Given the description of an element on the screen output the (x, y) to click on. 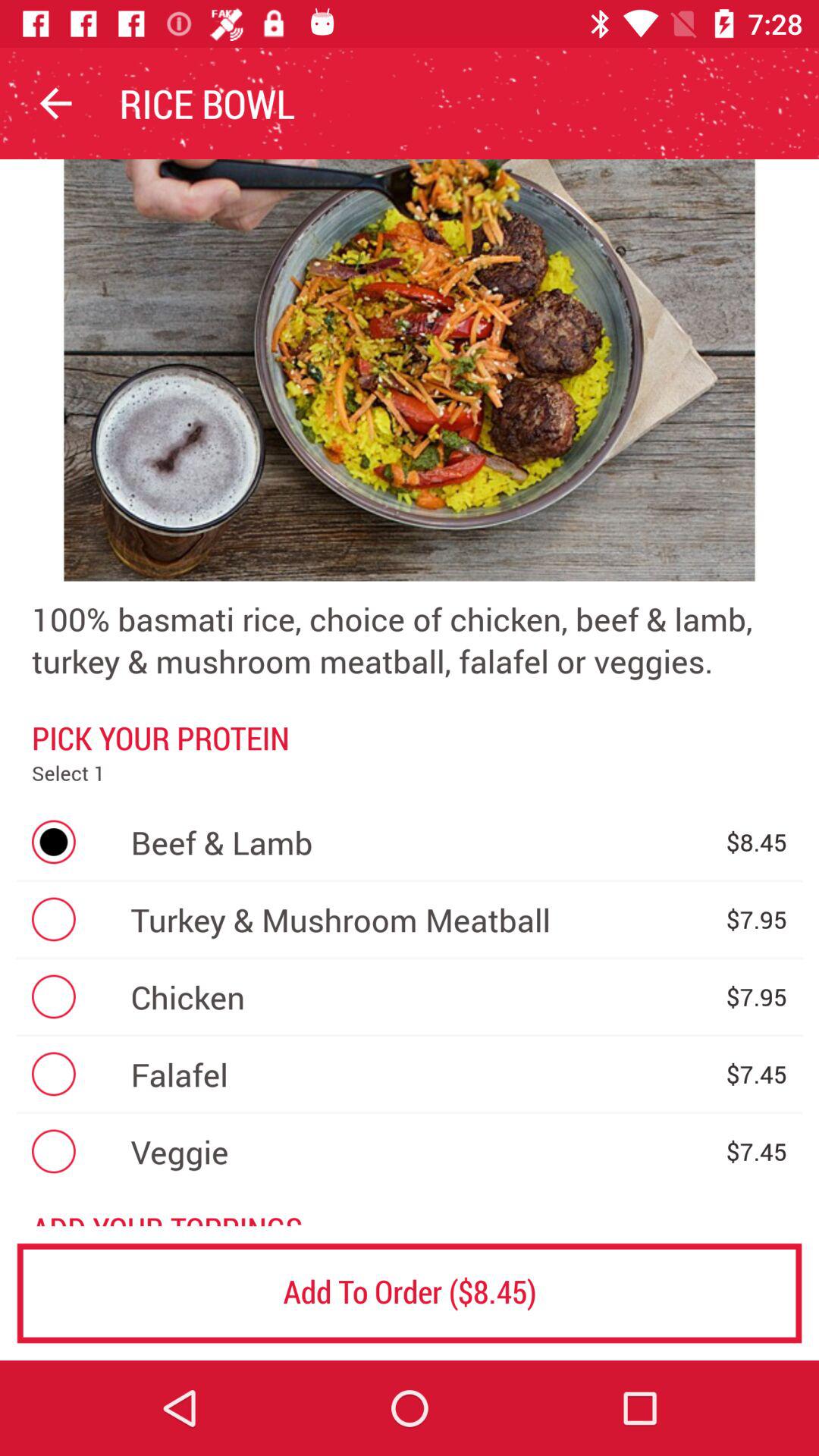
tap icon above add your toppings (420, 1151)
